Given the description of an element on the screen output the (x, y) to click on. 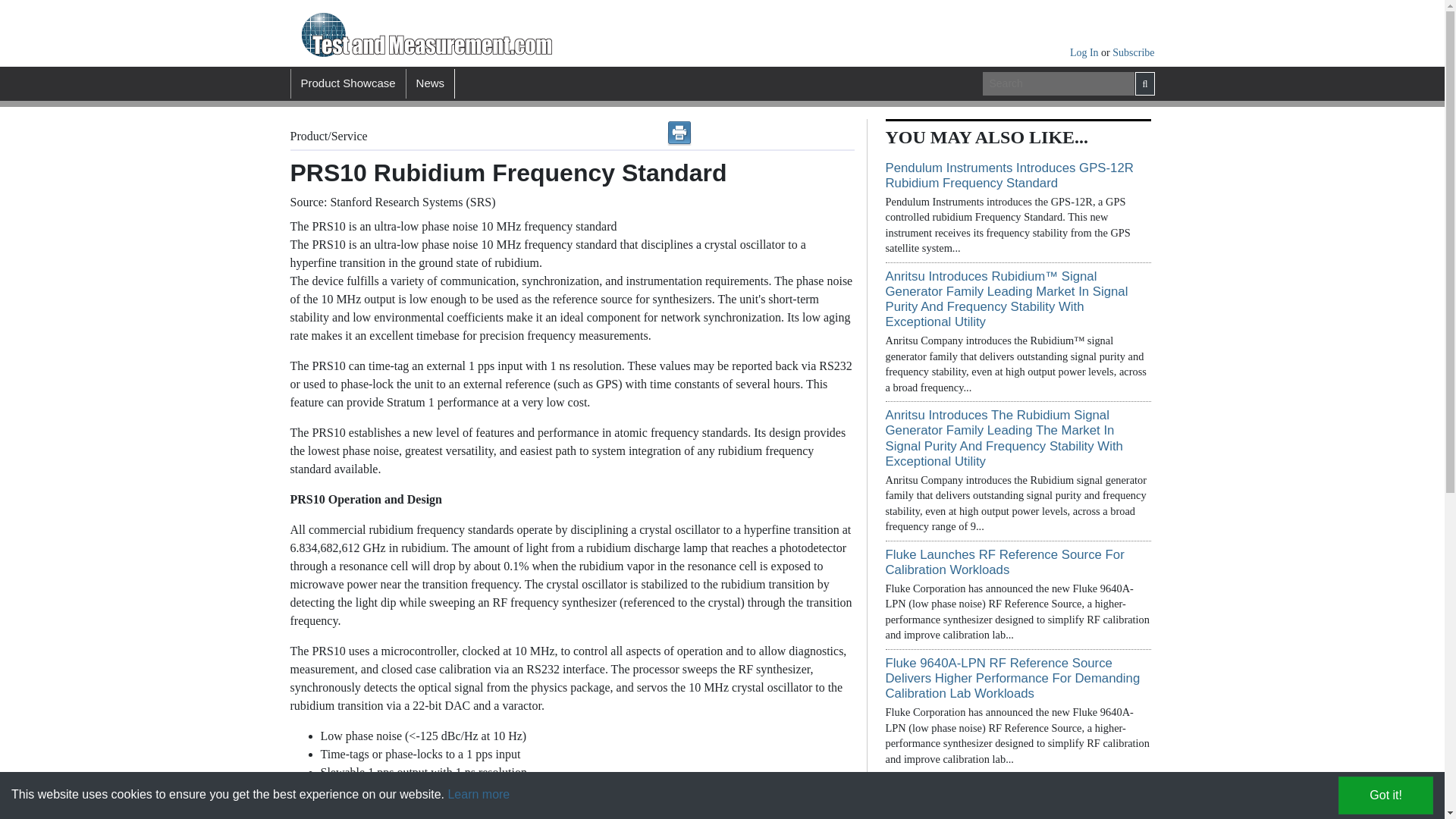
Product Showcase (346, 83)
News (430, 83)
Fluke Launches RF Reference Source For Calibration Workloads (1004, 562)
Subscribe (1133, 52)
Log In (1085, 52)
Learn more (477, 793)
Print (679, 133)
Got it! (1385, 795)
